Given the description of an element on the screen output the (x, y) to click on. 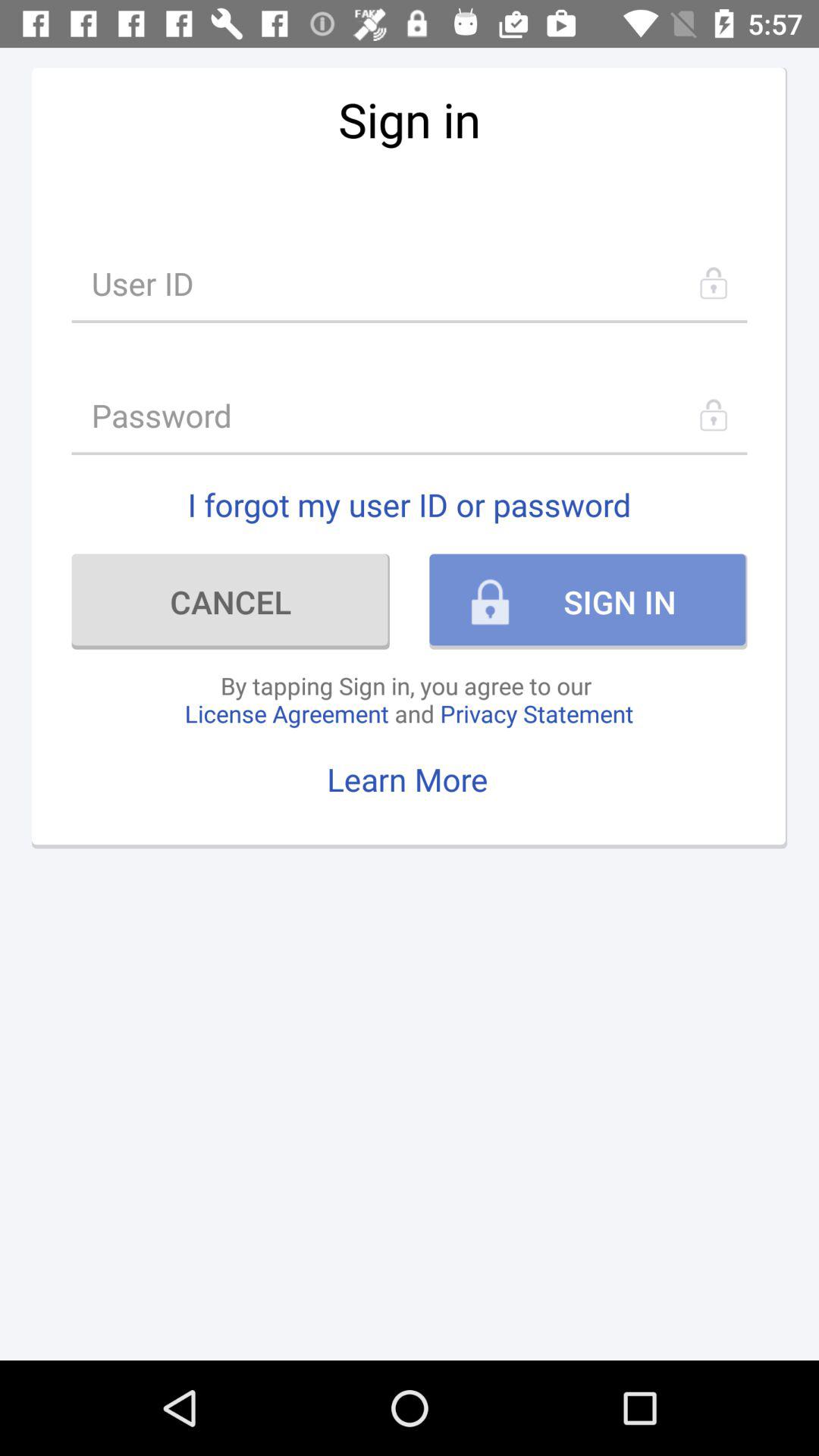
enter password (409, 415)
